Given the description of an element on the screen output the (x, y) to click on. 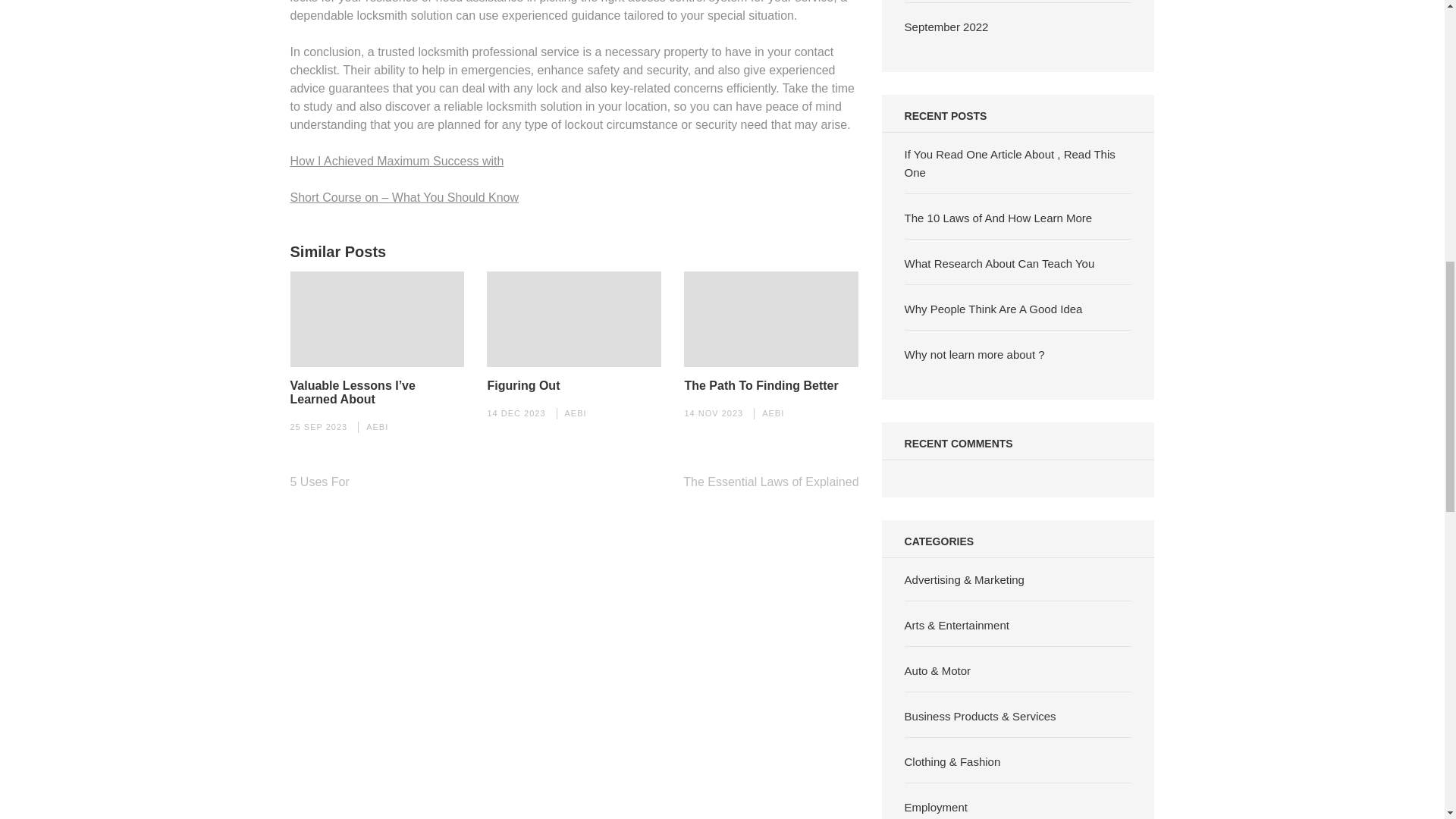
5 Uses For (319, 481)
The Essential Laws of Explained (770, 481)
AEBI (772, 412)
14 NOV 2023 (713, 412)
The Path To Finding Better (761, 386)
14 DEC 2023 (515, 412)
Figuring Out (522, 386)
How I Achieved Maximum Success with (396, 160)
AEBI (575, 412)
AEBI (377, 426)
25 SEP 2023 (318, 426)
